Given the description of an element on the screen output the (x, y) to click on. 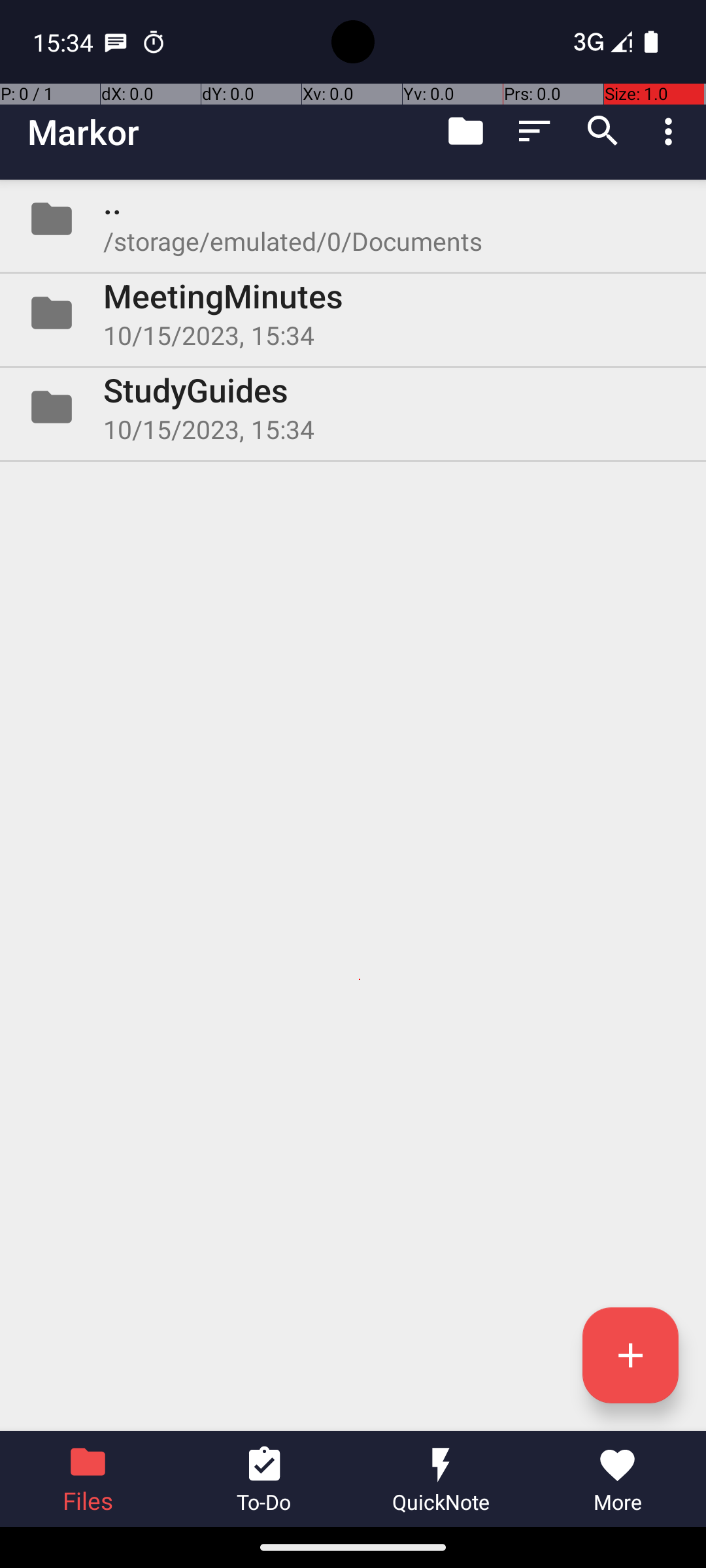
Folder MeetingMinutes  Element type: android.widget.LinearLayout (353, 312)
Folder StudyGuides  Element type: android.widget.LinearLayout (353, 406)
